Given the description of an element on the screen output the (x, y) to click on. 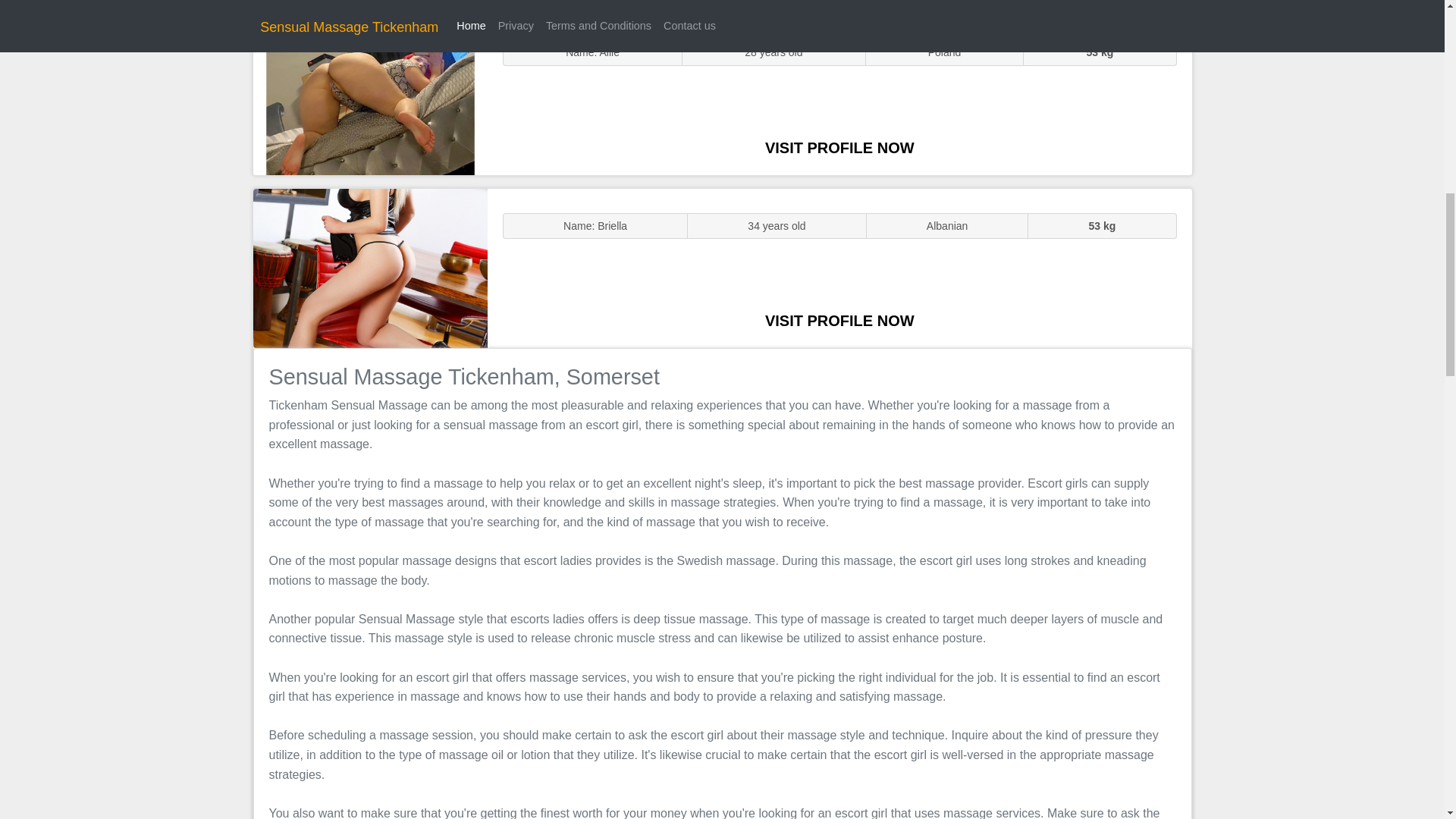
Sluts (370, 94)
Massage (370, 267)
VISIT PROFILE NOW (839, 147)
VISIT PROFILE NOW (839, 320)
